Given the description of an element on the screen output the (x, y) to click on. 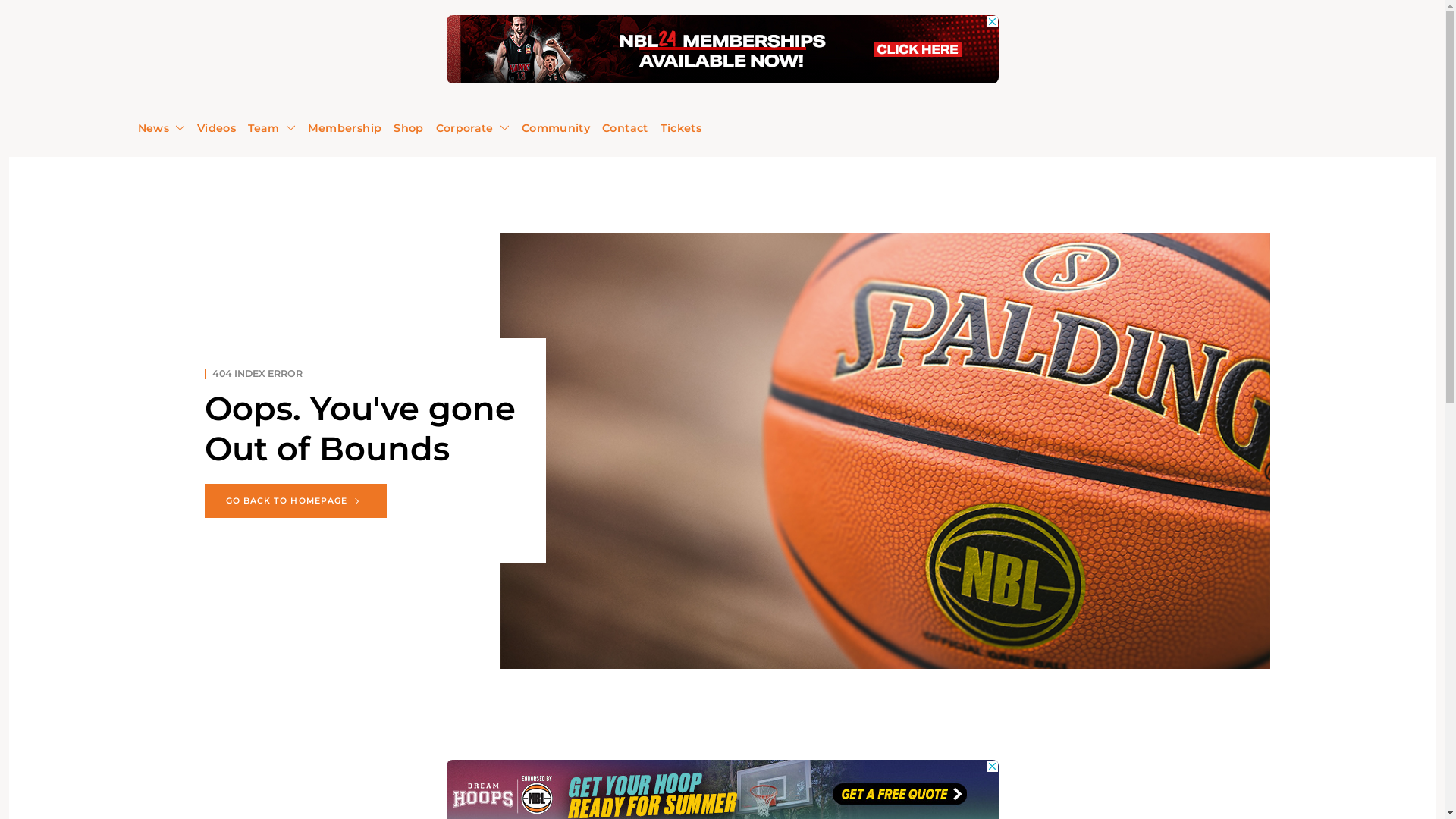
Community Element type: text (555, 126)
3rd party ad content Element type: hover (721, 49)
Tickets Element type: text (681, 126)
GO BACK TO HOMEPAGE Element type: text (295, 500)
Shop Element type: text (408, 126)
Membership Element type: text (344, 126)
404 Page Not Found Element type: hover (884, 450)
Contact Element type: text (625, 126)
Videos Element type: text (216, 126)
